Given the description of an element on the screen output the (x, y) to click on. 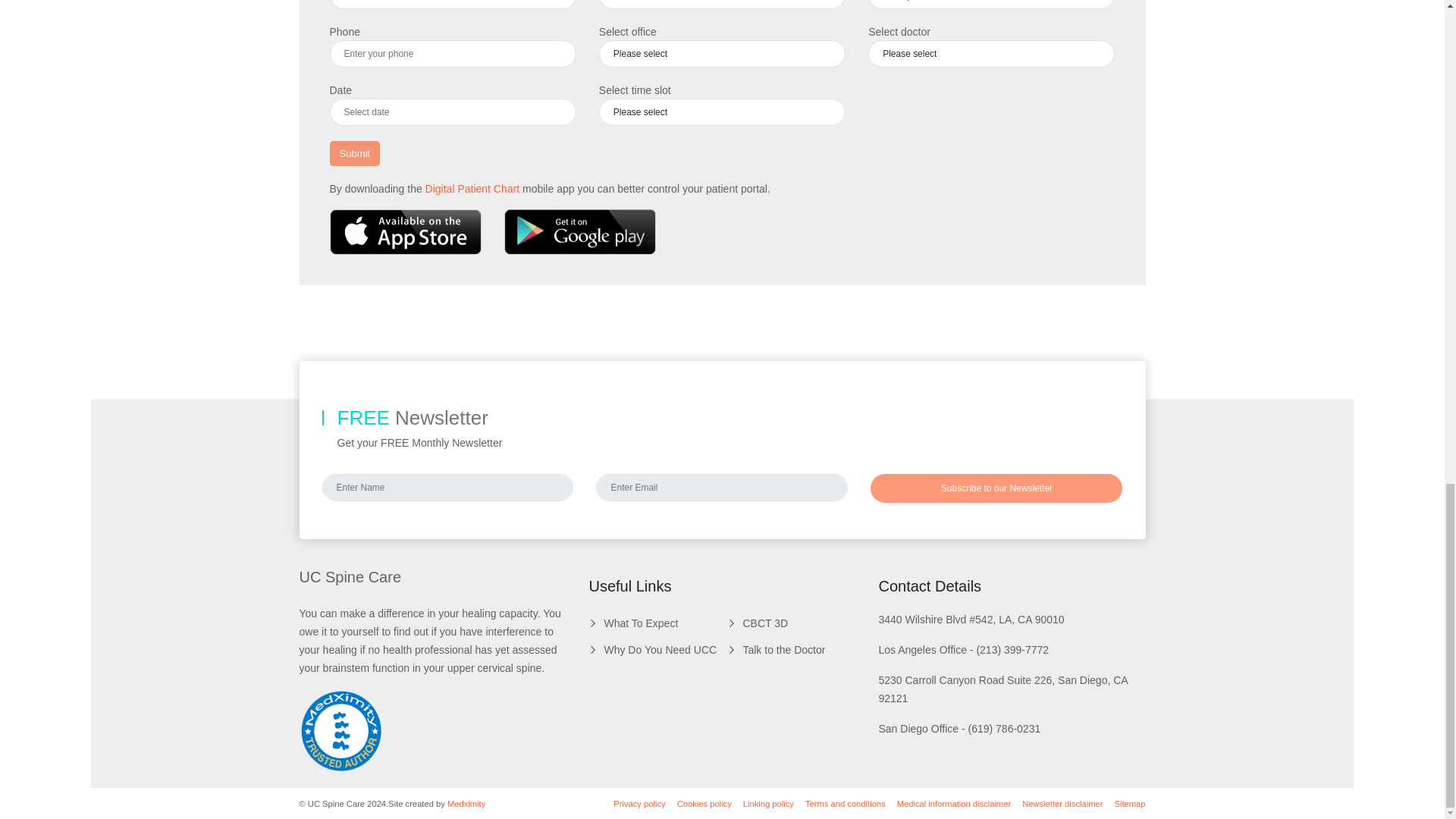
What To Expect (633, 623)
CBCT 3D (756, 623)
Digital Patient Chart (472, 188)
MedXimity - verified chiropractor (339, 731)
Talk to the Doctor (775, 649)
Cookies policy (704, 803)
Submit (353, 153)
Privacy policy (638, 803)
Subscribe to our Newsletter (996, 488)
Newsletter disclaimer (1062, 803)
